Given the description of an element on the screen output the (x, y) to click on. 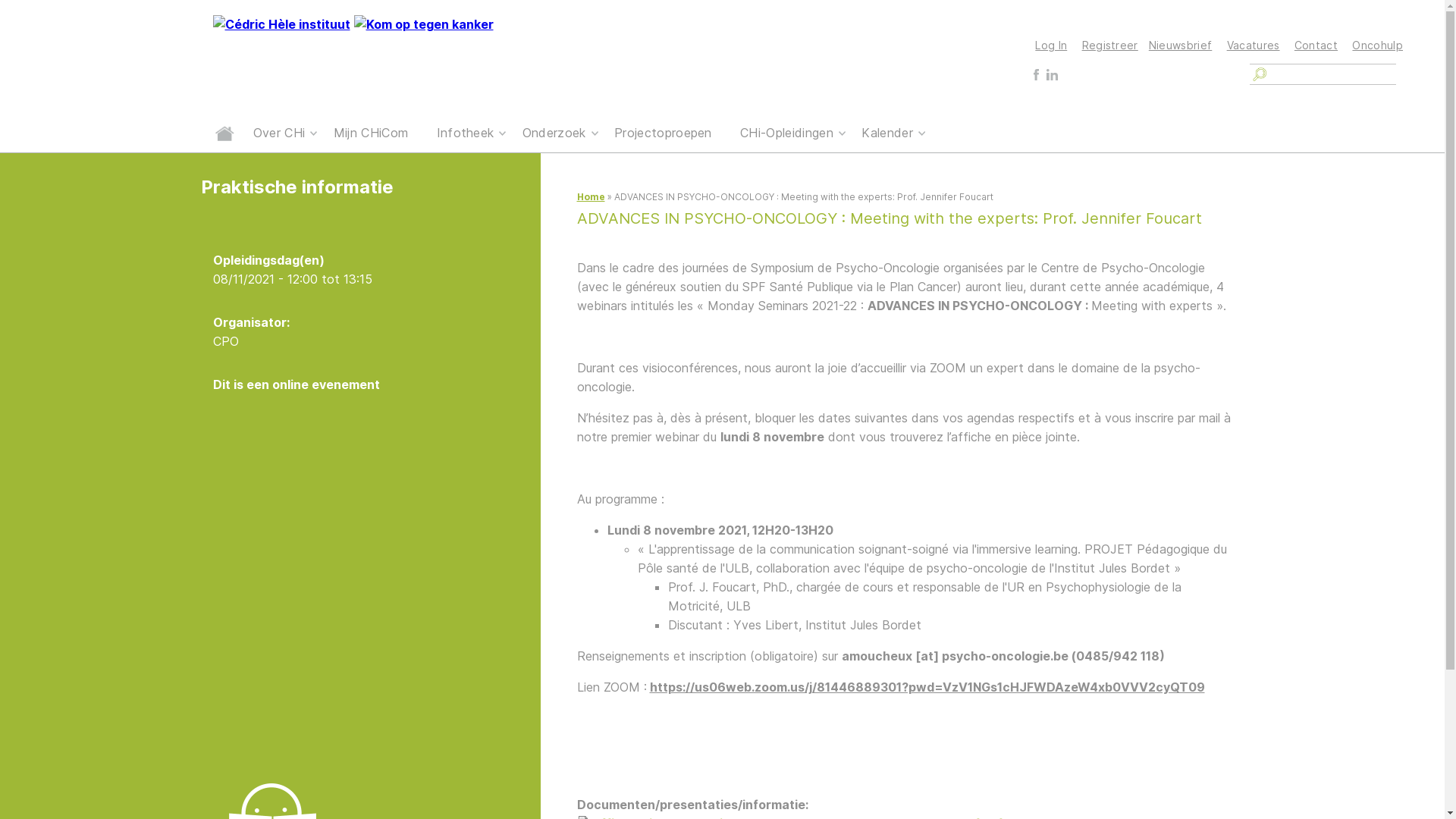
Kalender Element type: text (887, 132)
Geef de woorden op waarnaar u wilt zoeken. Element type: hover (1332, 74)
Home Element type: text (590, 196)
Overslaan en naar de inhoud gaan Element type: text (103, 0)
Projectoproepen Element type: text (663, 132)
Zoeken Element type: text (1258, 74)
Infotheek Element type: text (465, 132)
Contact Element type: text (1316, 44)
Home Element type: text (224, 132)
Log In Element type: text (1050, 44)
Kom op tegen kanker Element type: hover (422, 24)
Over CHi Element type: text (279, 132)
CHi-Opleidingen Element type: text (786, 132)
Registreer Element type: text (1109, 44)
Onderzoek Element type: text (554, 132)
Vacatures Element type: text (1253, 44)
Oncohulp Element type: text (1377, 44)
Nieuwsbrief Element type: text (1180, 44)
Facebook Element type: text (1035, 73)
LinkedIn Element type: text (1052, 73)
Mijn CHiCom Element type: text (370, 132)
